Given the description of an element on the screen output the (x, y) to click on. 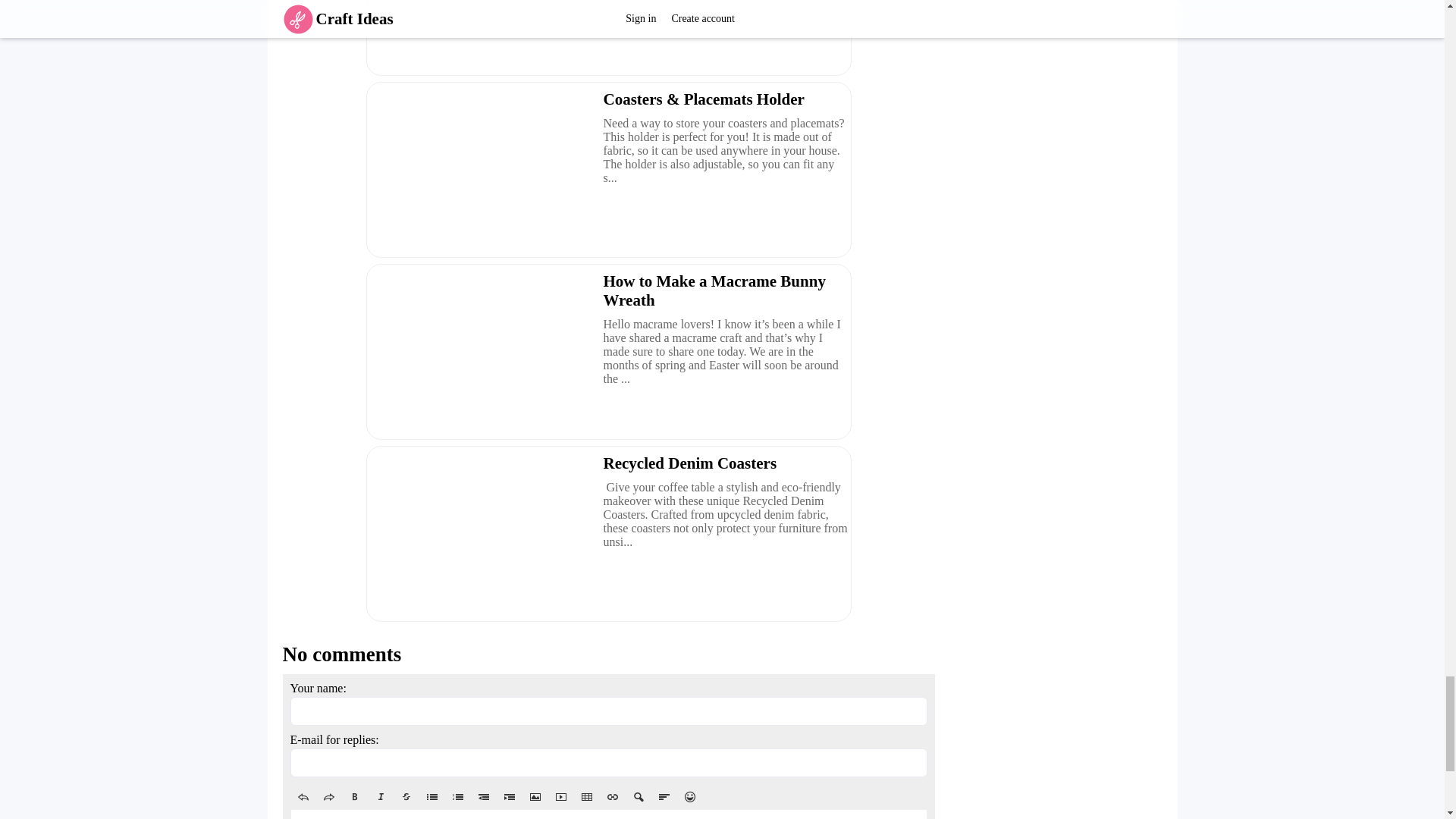
Link (611, 796)
Table (585, 796)
Italic (379, 796)
Redo (327, 796)
Undo (302, 796)
Spoiler (637, 796)
Insert Video (560, 796)
Bold (353, 796)
Deleted (406, 796)
Insert Image (534, 796)
